Given the description of an element on the screen output the (x, y) to click on. 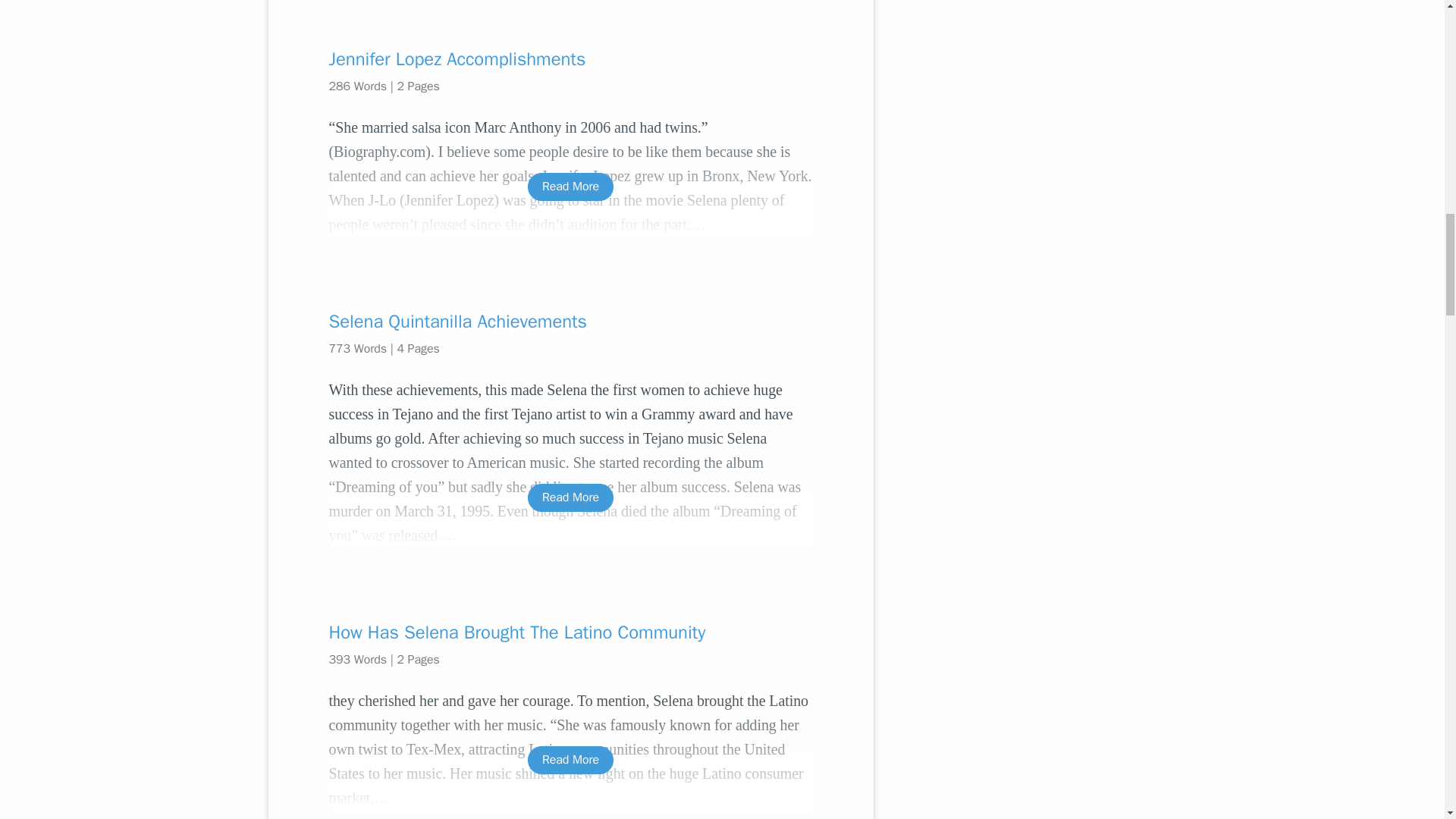
How Has Selena Brought The Latino Community (570, 631)
Jennifer Lopez Accomplishments (570, 58)
Read More (569, 186)
Selena Quintanilla Achievements (570, 321)
Read More (569, 497)
Read More (569, 759)
